Given the description of an element on the screen output the (x, y) to click on. 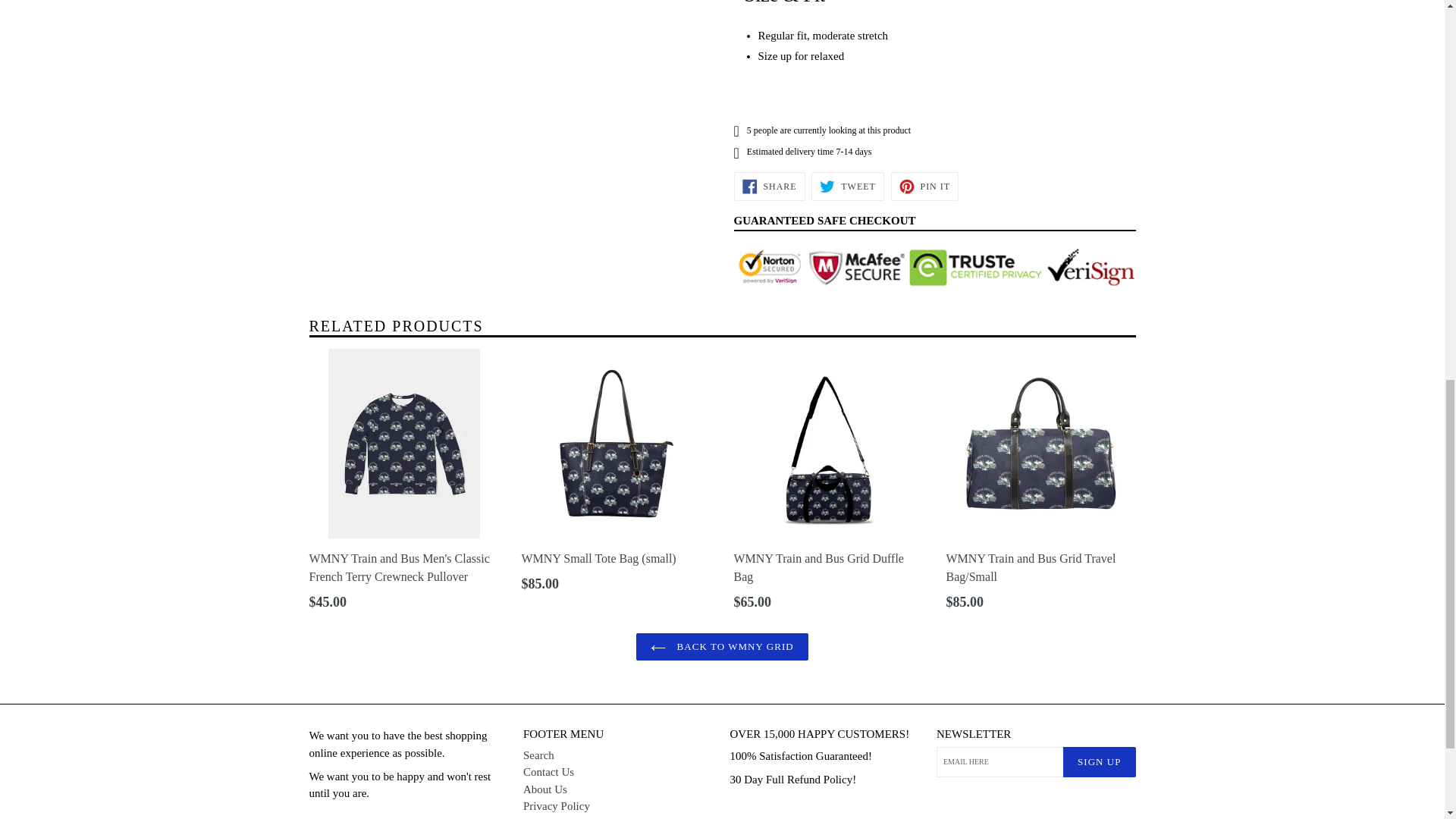
Tweet on Twitter (846, 185)
Pin on Pinterest (769, 185)
Share on Facebook (924, 185)
